Given the description of an element on the screen output the (x, y) to click on. 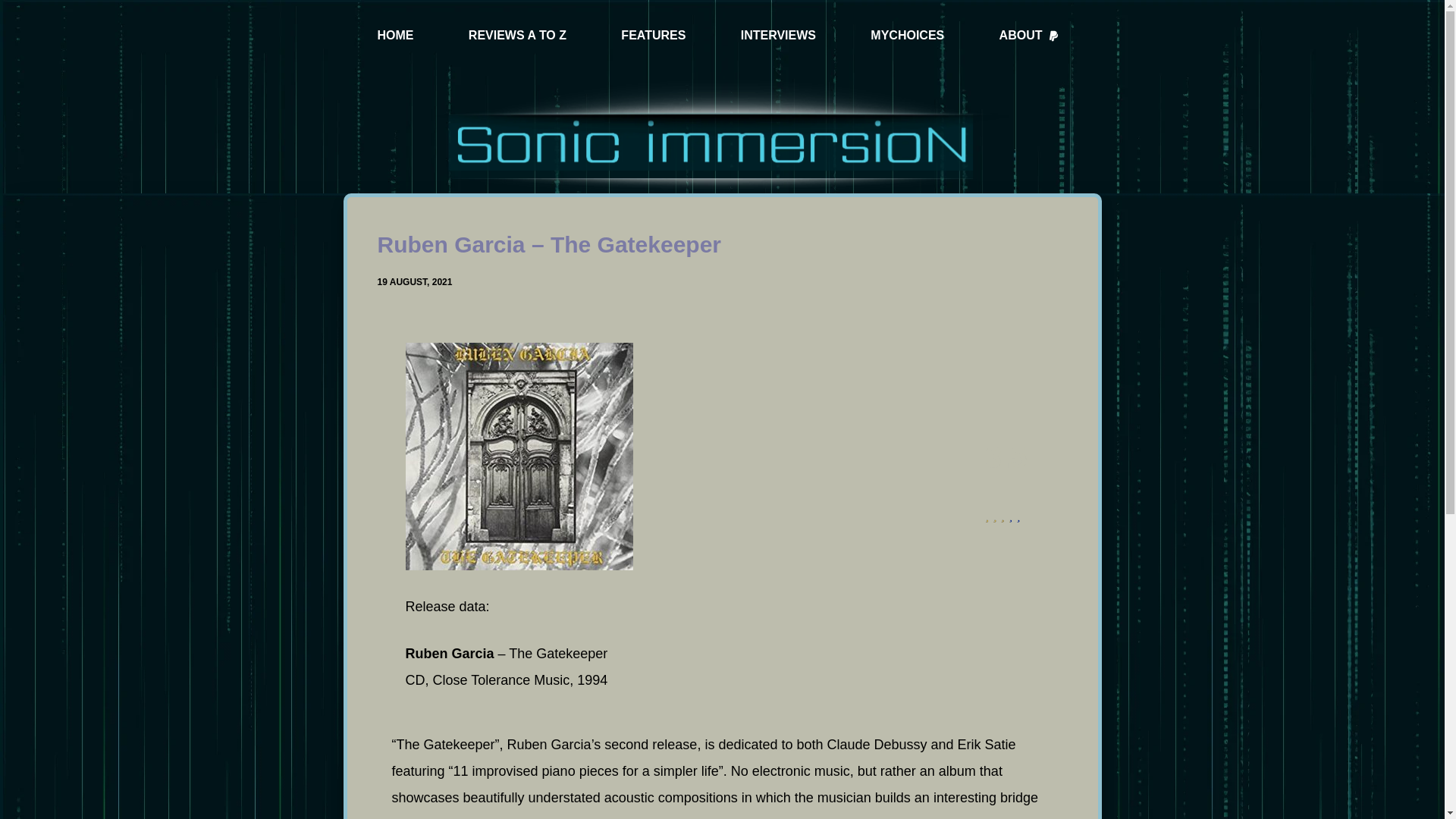
HOME (395, 36)
REVIEWS A TO Z (517, 36)
FEATURES (652, 36)
INTERVIEWS (778, 36)
CreativeThemes (774, 793)
MYCHOICES (907, 36)
Skip to content (15, 7)
ABOUT (1029, 36)
